Given the description of an element on the screen output the (x, y) to click on. 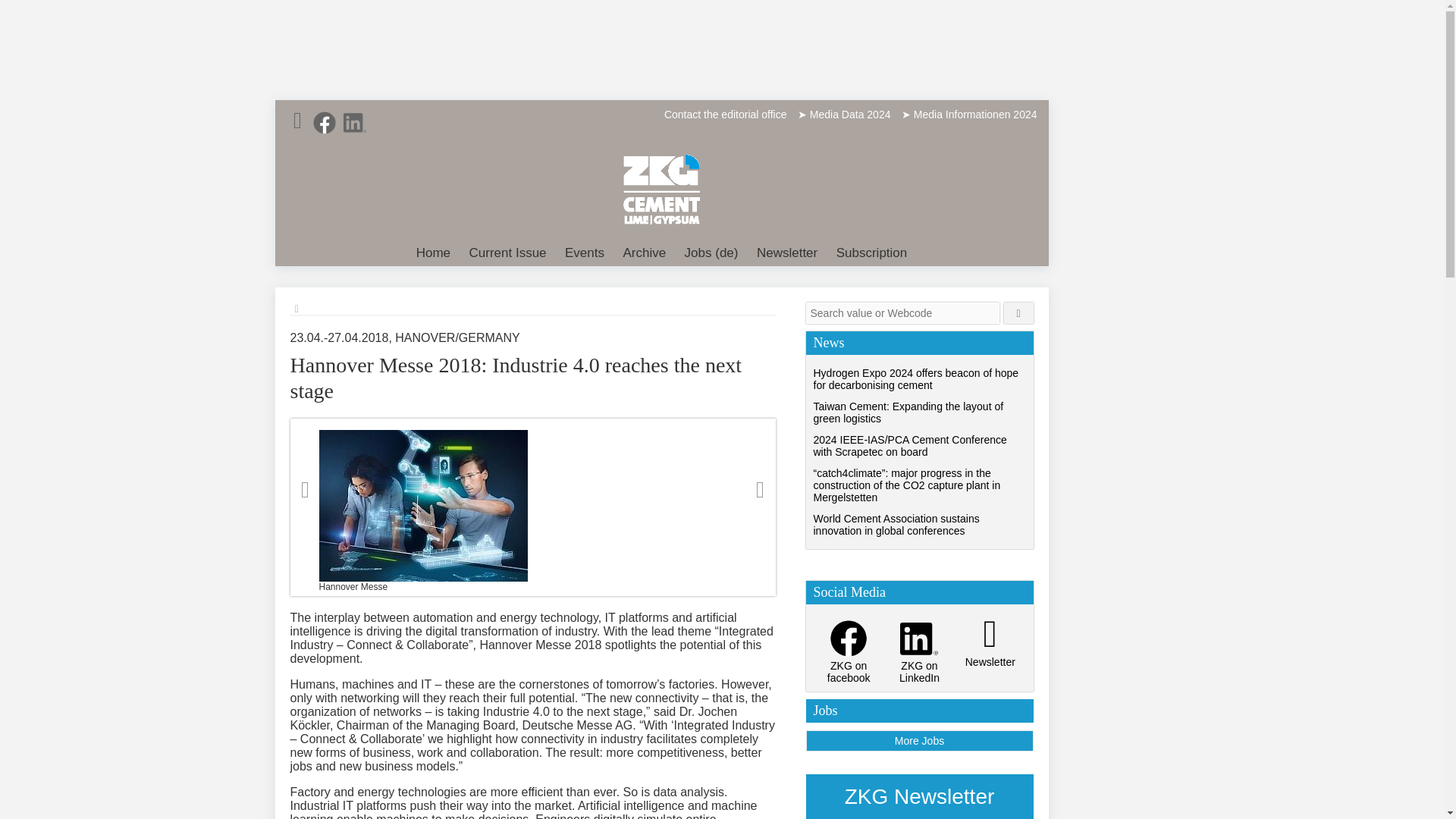
Home (433, 253)
Contact the editorial office (725, 114)
Events (584, 253)
Subscription (871, 253)
Search value or Webcode (901, 312)
Newsletter (787, 253)
Current Issue (507, 253)
Suchen (1018, 312)
Archive (643, 253)
